Given the description of an element on the screen output the (x, y) to click on. 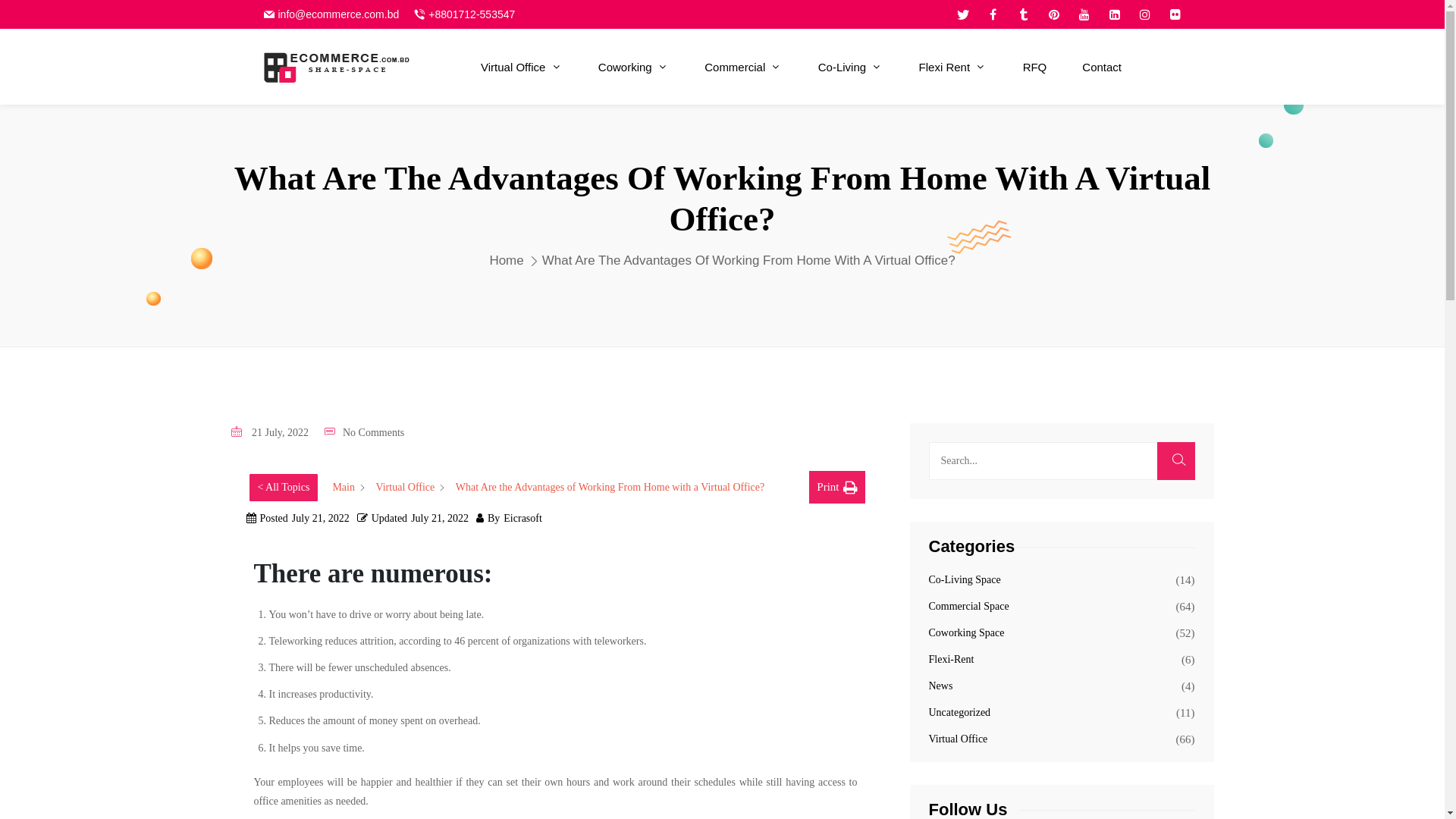
Commercial Space Element type: text (968, 606)
Coworking Space Element type: text (966, 632)
RFQ Element type: text (1034, 67)
Co-Living Space Element type: text (964, 579)
Virtual Office Element type: text (957, 738)
Main Element type: text (343, 487)
Virtual Office Element type: text (404, 487)
Contact Element type: text (1101, 67)
+8801712-553547 Element type: text (471, 14)
Home Element type: text (506, 260)
Flexi-Rent Element type: text (950, 659)
Flexi Rent Element type: text (952, 67)
< All Topics Element type: text (282, 487)
Uncategorized Element type: text (959, 712)
Go Element type: text (924, 407)
Coworking Element type: text (633, 67)
Co-Living Element type: text (850, 67)
Commercial Element type: text (743, 67)
News Element type: text (940, 685)
Virtual Office Element type: text (521, 67)
